Given the description of an element on the screen output the (x, y) to click on. 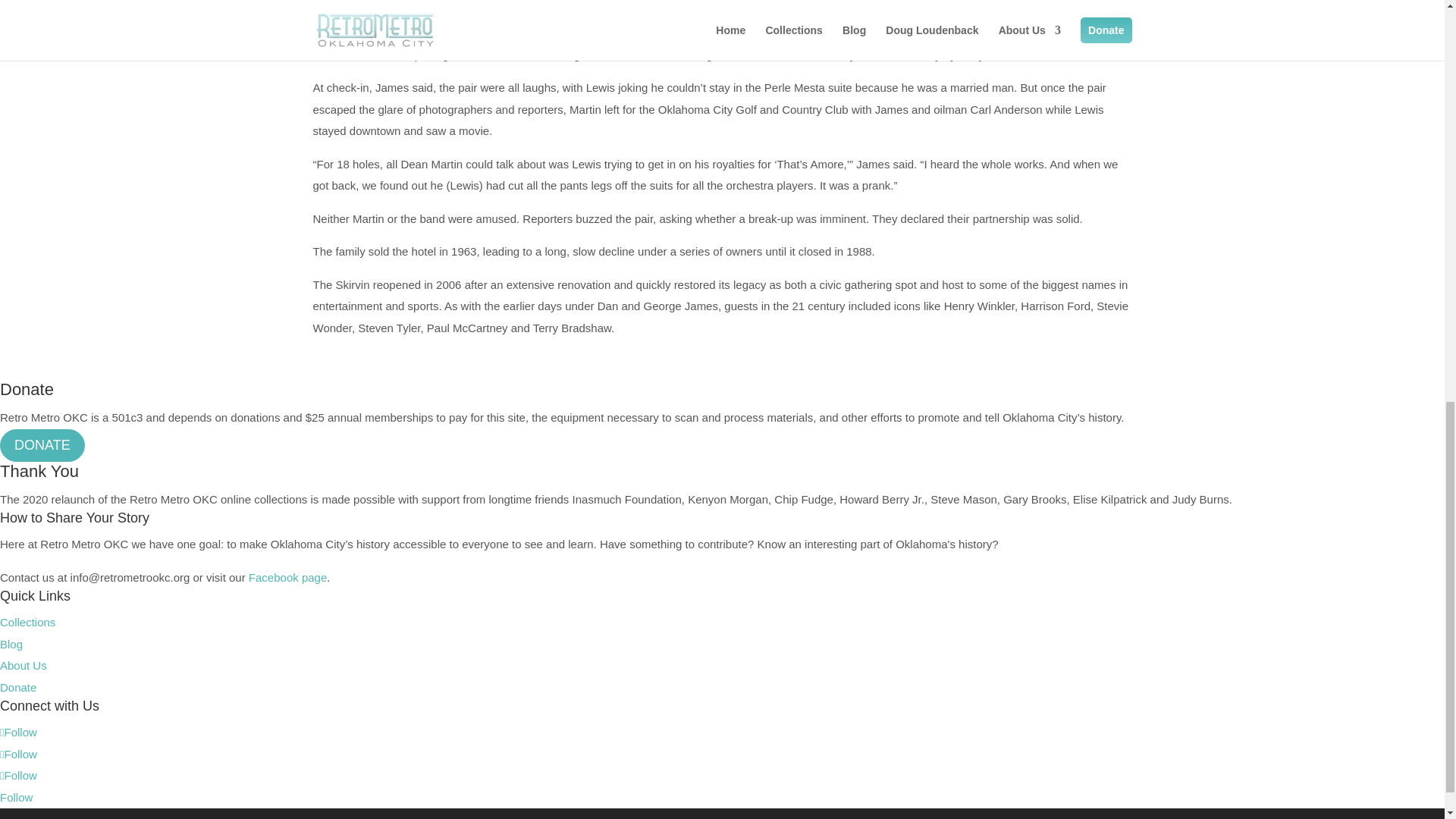
Follow on Instagram (18, 775)
Follow on X (18, 753)
Follow (16, 797)
Follow on Facebook (18, 731)
About Us (23, 665)
Follow (18, 753)
Donate (18, 686)
Follow (18, 731)
Blog (11, 644)
Facebook page (287, 576)
